Given the description of an element on the screen output the (x, y) to click on. 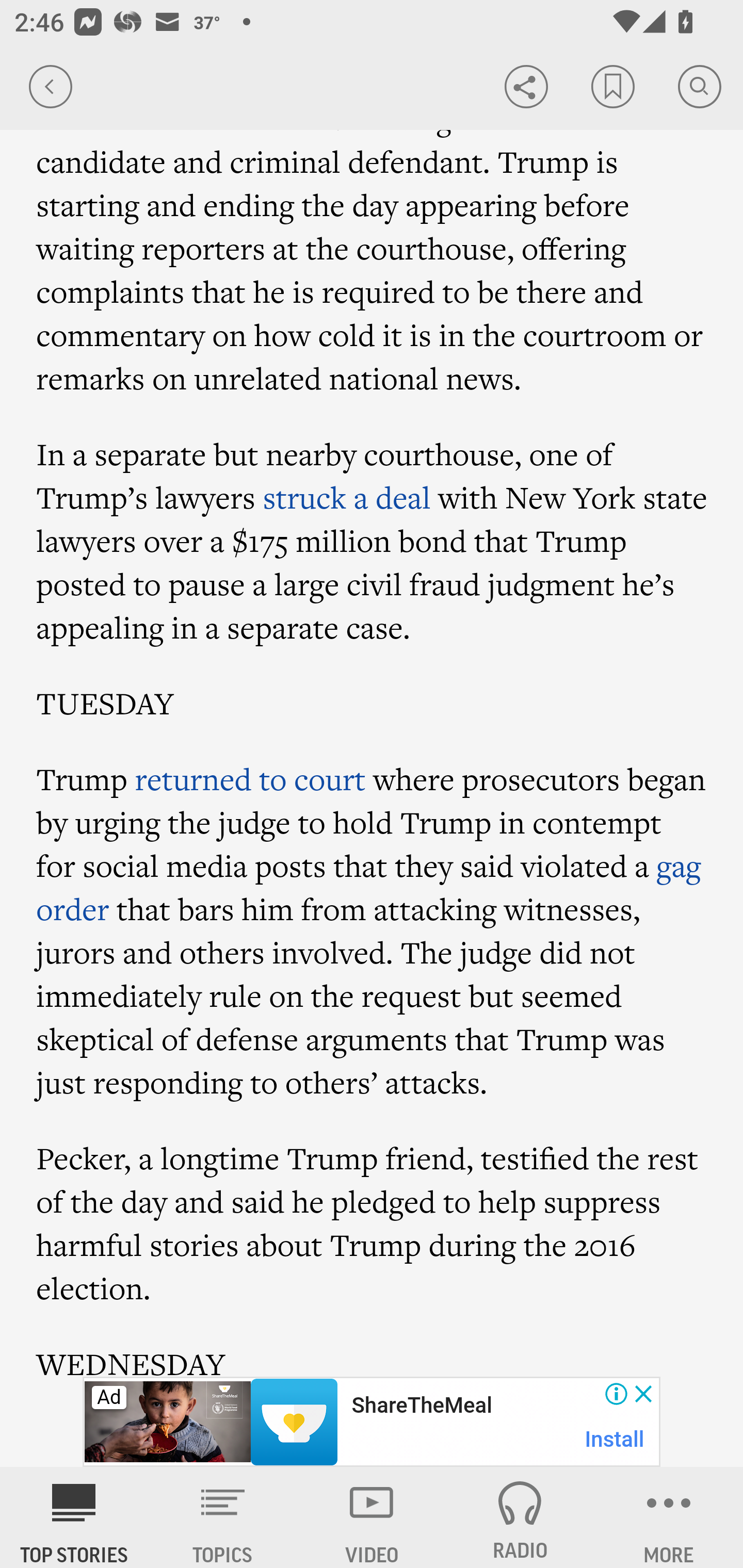
struck a deal (346, 497)
returned to court (249, 779)
gag order (369, 886)
ShareTheMeal (420, 1405)
Install (614, 1438)
AP News TOP STORIES (74, 1517)
TOPICS (222, 1517)
VIDEO (371, 1517)
RADIO (519, 1517)
MORE (668, 1517)
